Given the description of an element on the screen output the (x, y) to click on. 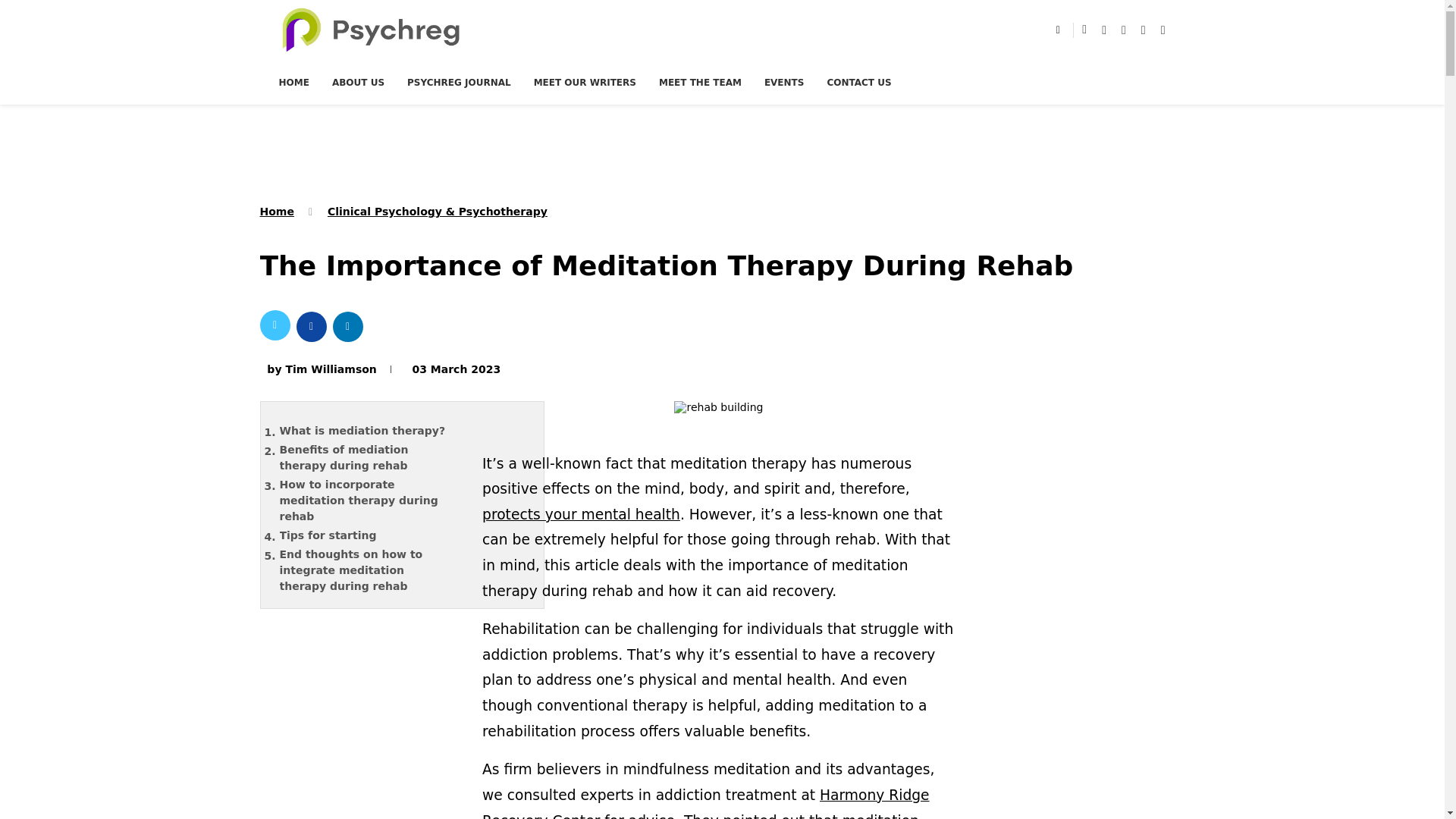
PSYCHREG JOURNAL (459, 82)
MEET THE TEAM (700, 82)
ABOUT US (357, 82)
How to incorporate meditation therapy during rehab (373, 500)
CONTACT US (859, 82)
EVENTS (784, 82)
rehab building (718, 410)
Benefits of mediation therapy during rehab (373, 458)
MEET OUR WRITERS (585, 82)
What is mediation therapy? (373, 430)
Tips for starting (373, 535)
